Given the description of an element on the screen output the (x, y) to click on. 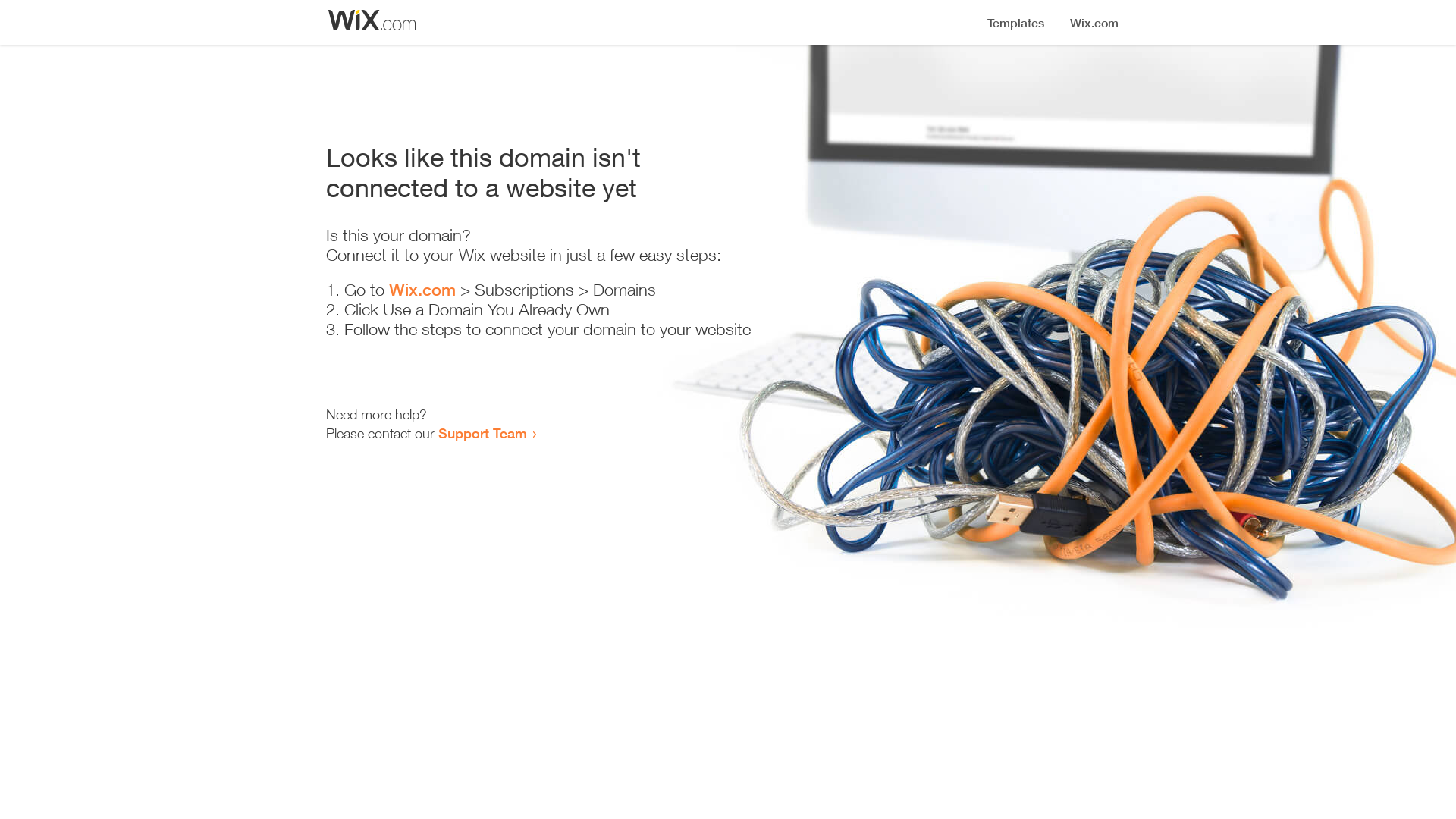
Wix.com Element type: text (422, 289)
Support Team Element type: text (482, 432)
